Given the description of an element on the screen output the (x, y) to click on. 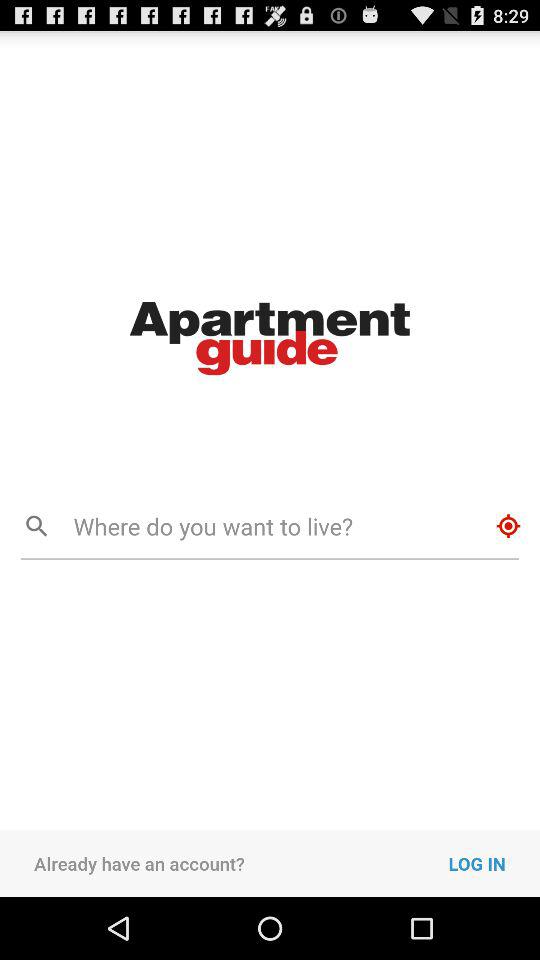
press the icon next to already have an icon (494, 863)
